Given the description of an element on the screen output the (x, y) to click on. 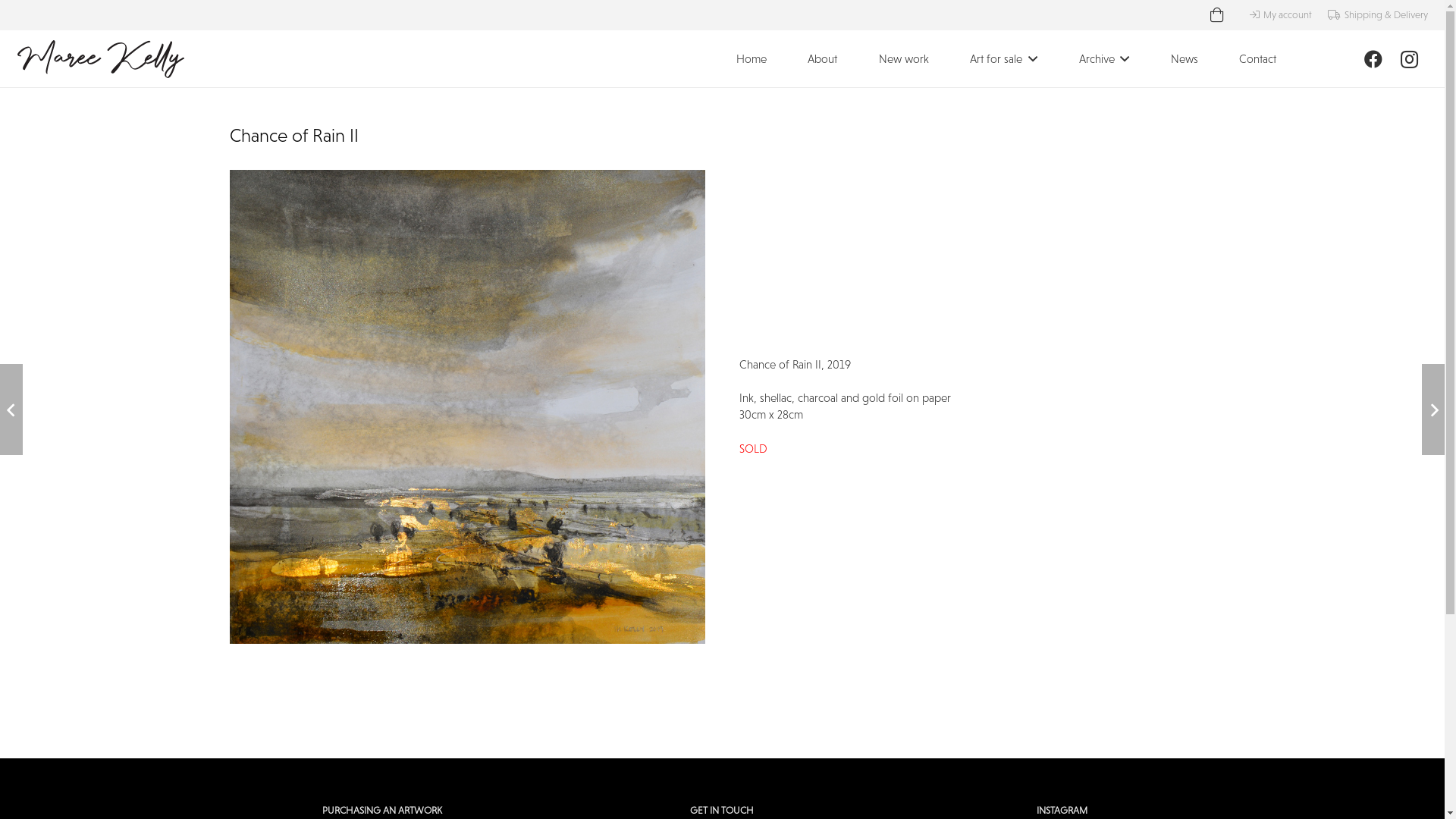
About Element type: text (821, 58)
Facebook Element type: hover (1372, 58)
Archive Element type: text (1104, 58)
Contact Element type: text (1257, 58)
Home Element type: text (750, 58)
News Element type: text (1184, 58)
Shipping & Delivery Element type: text (1377, 14)
New work Element type: text (903, 58)
Instagram Element type: hover (1408, 58)
Art for sale Element type: text (1003, 58)
My account Element type: text (1280, 14)
